Given the description of an element on the screen output the (x, y) to click on. 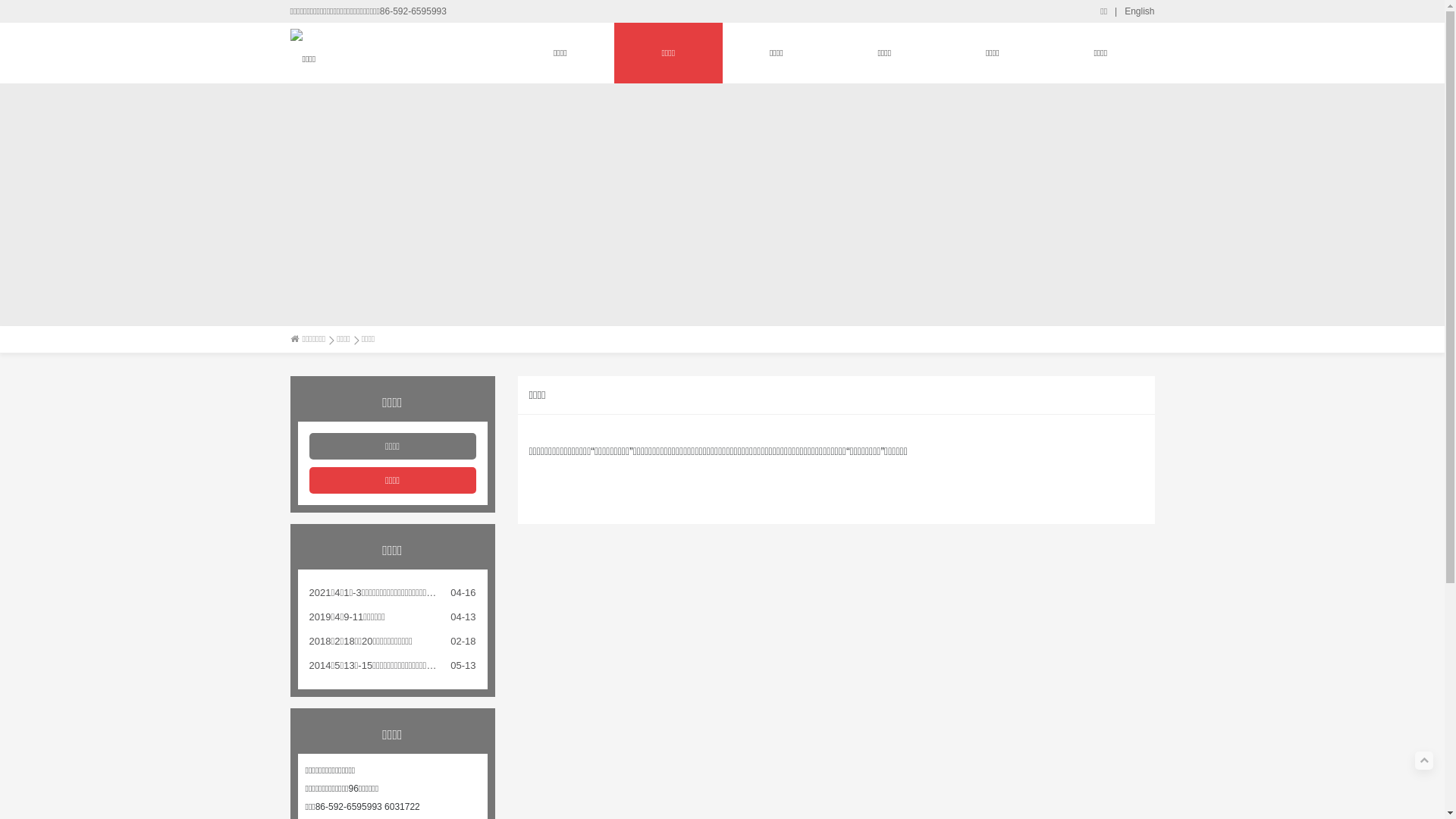
English Element type: text (1139, 11)
